Given the description of an element on the screen output the (x, y) to click on. 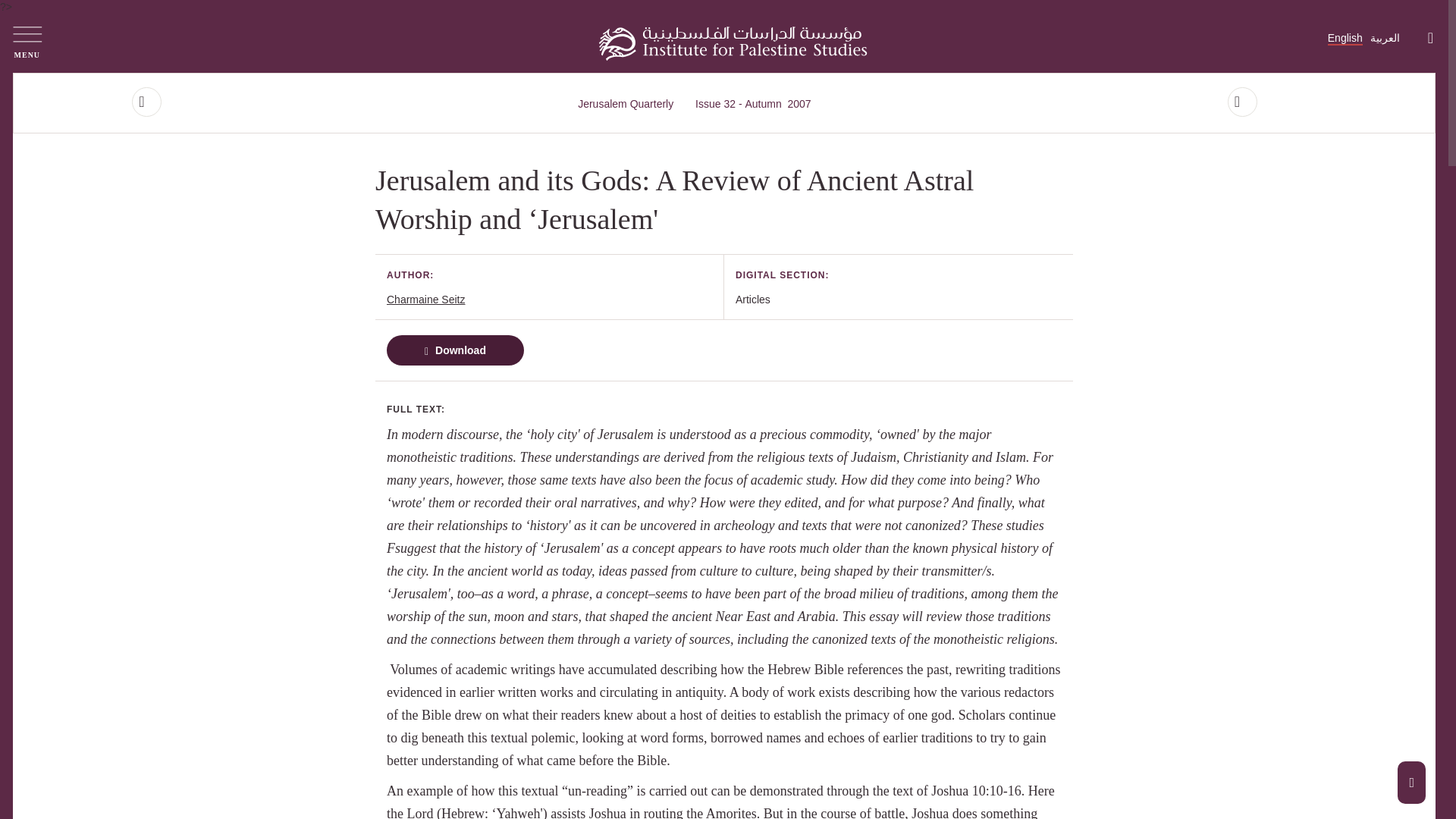
Charmaine Seitz (426, 299)
Jerusalem Quarterly (627, 103)
English (752, 103)
